Given the description of an element on the screen output the (x, y) to click on. 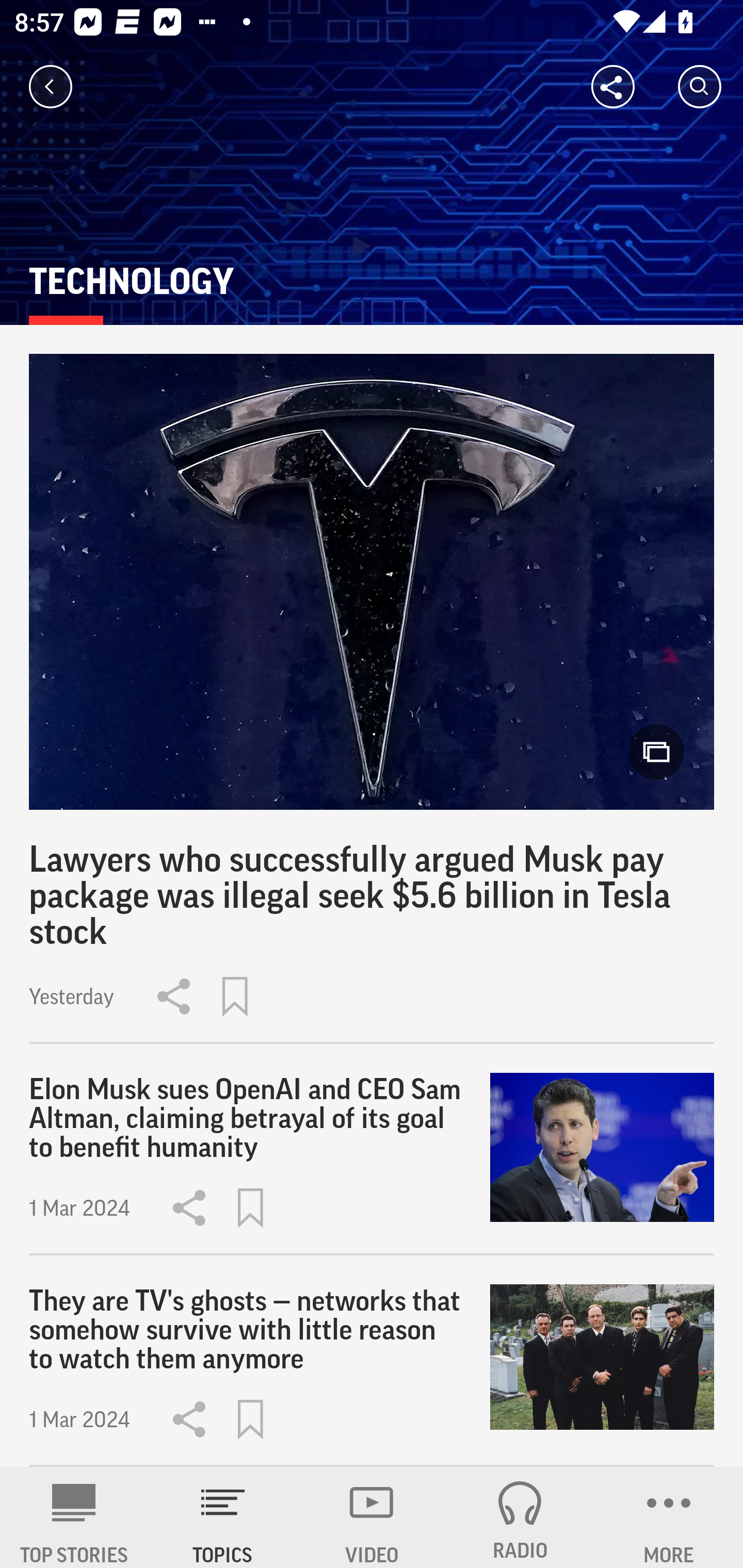
AP News TOP STORIES (74, 1517)
TOPICS (222, 1517)
VIDEO (371, 1517)
RADIO (519, 1517)
MORE (668, 1517)
